Given the description of an element on the screen output the (x, y) to click on. 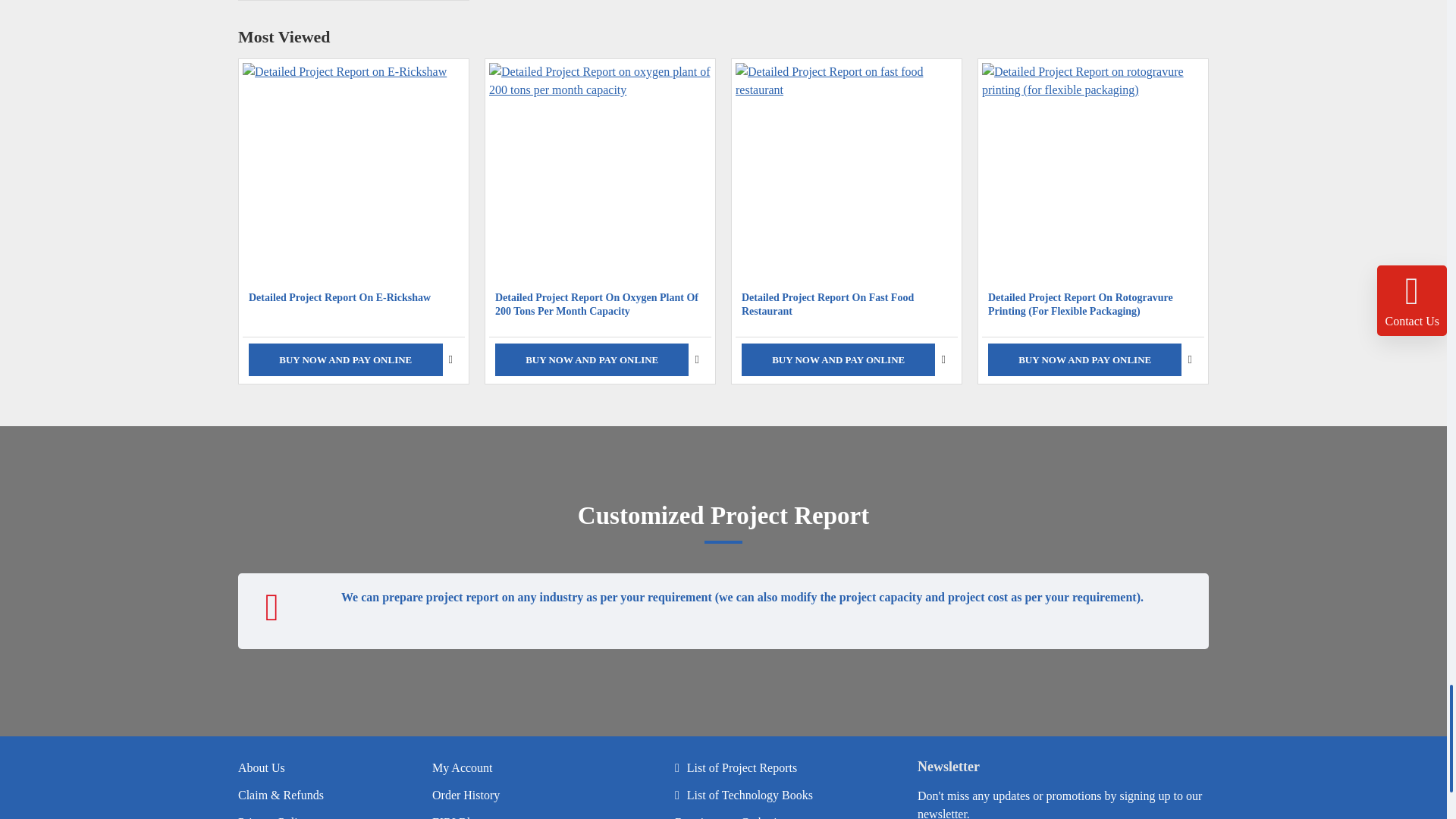
Detailed Project Report on E-Rickshaw (353, 174)
